Given the description of an element on the screen output the (x, y) to click on. 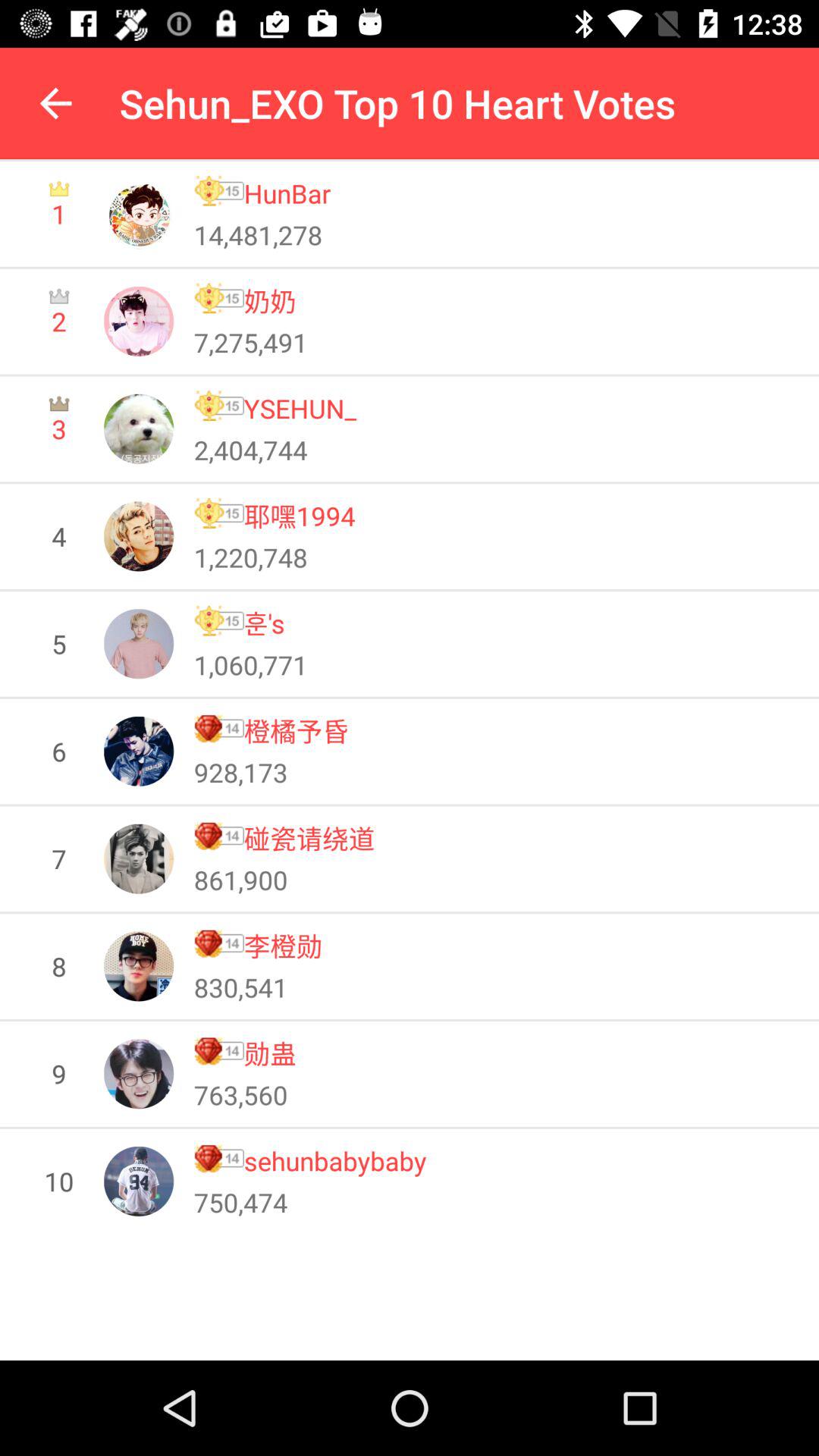
scroll until ysehun_ item (299, 407)
